Given the description of an element on the screen output the (x, y) to click on. 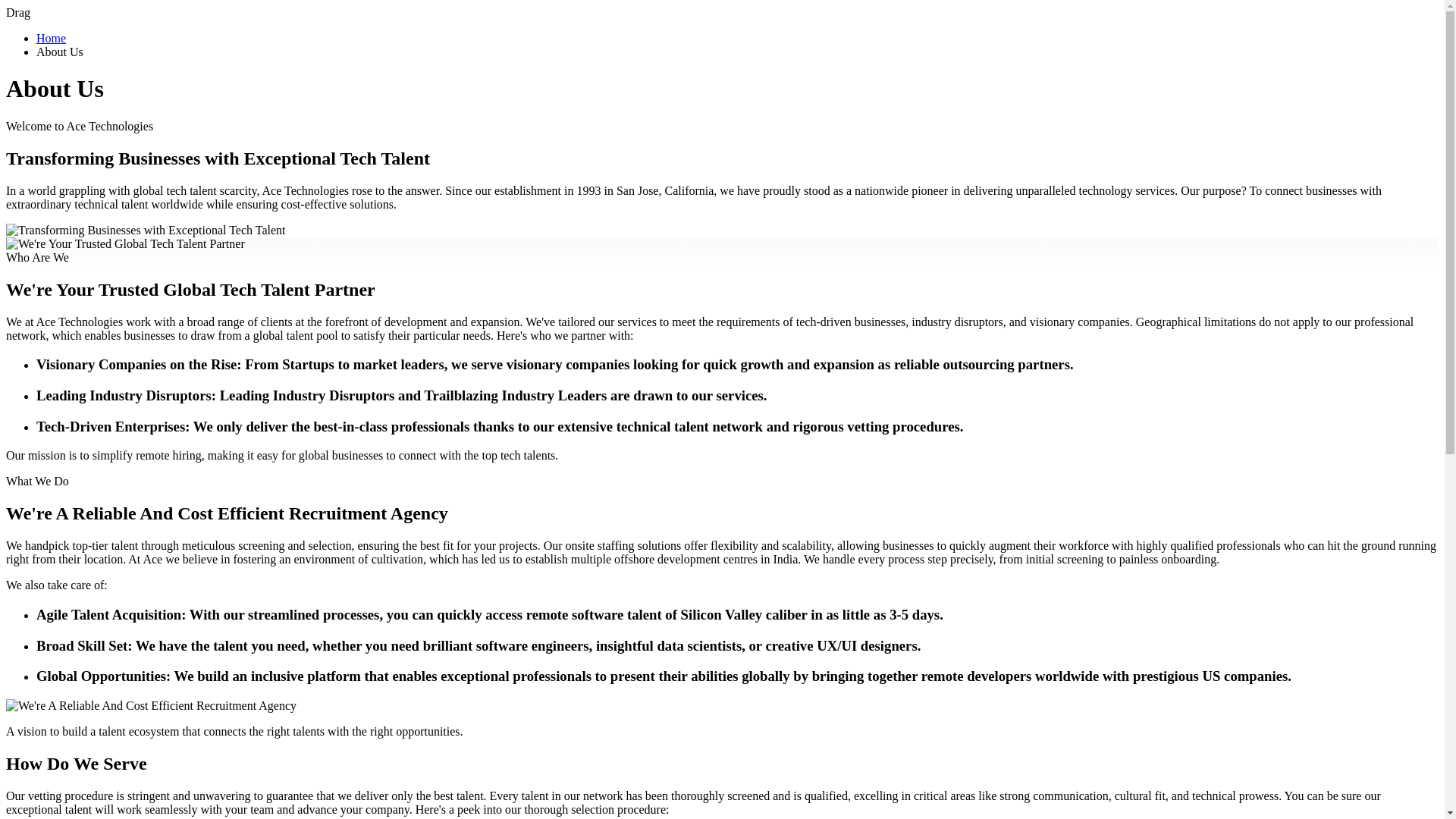
Home (50, 38)
